Given the description of an element on the screen output the (x, y) to click on. 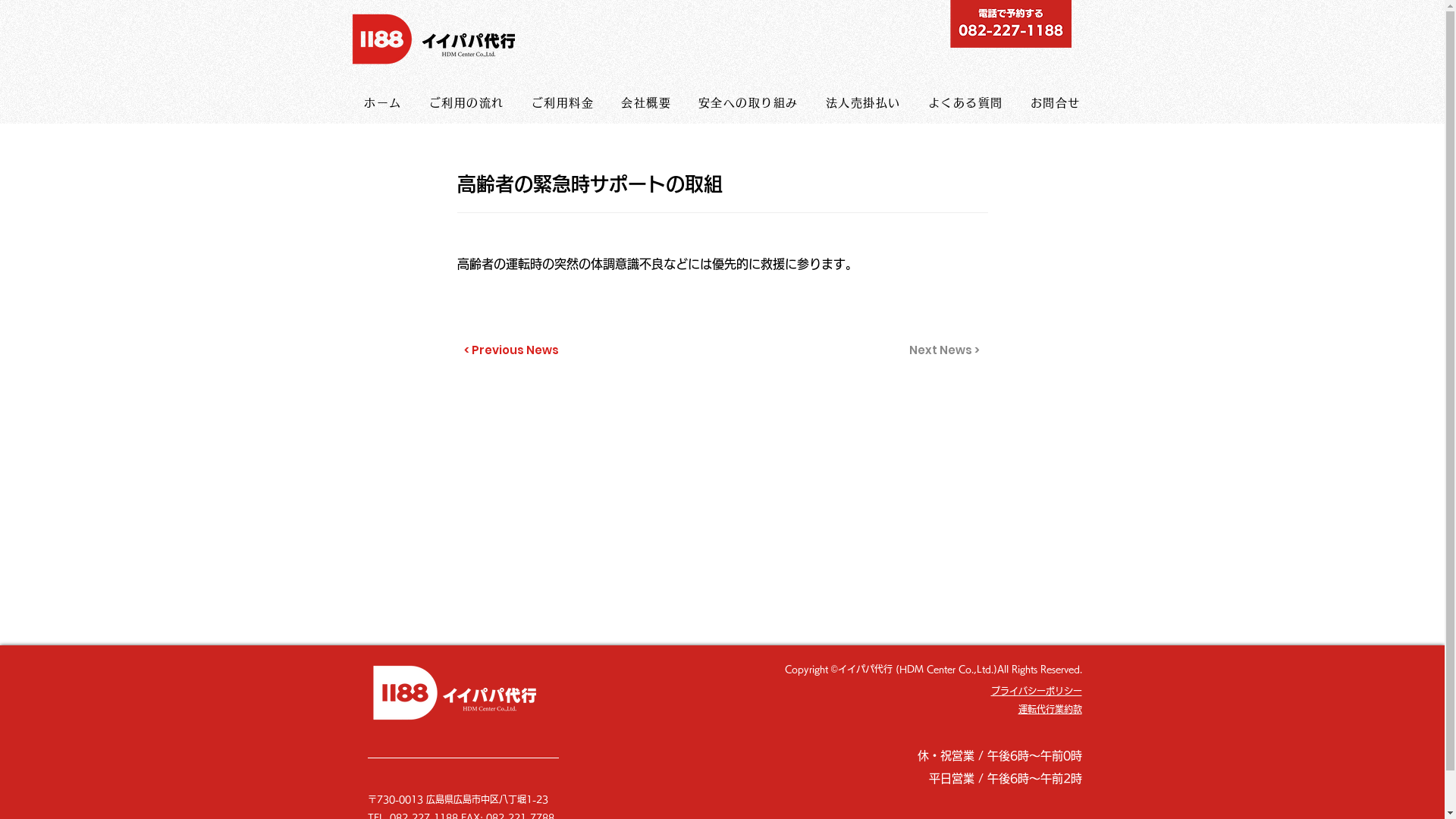
< Previous News Element type: text (514, 350)
Embedded Content Element type: hover (721, 429)
Next News > Element type: text (941, 350)
